Given the description of an element on the screen output the (x, y) to click on. 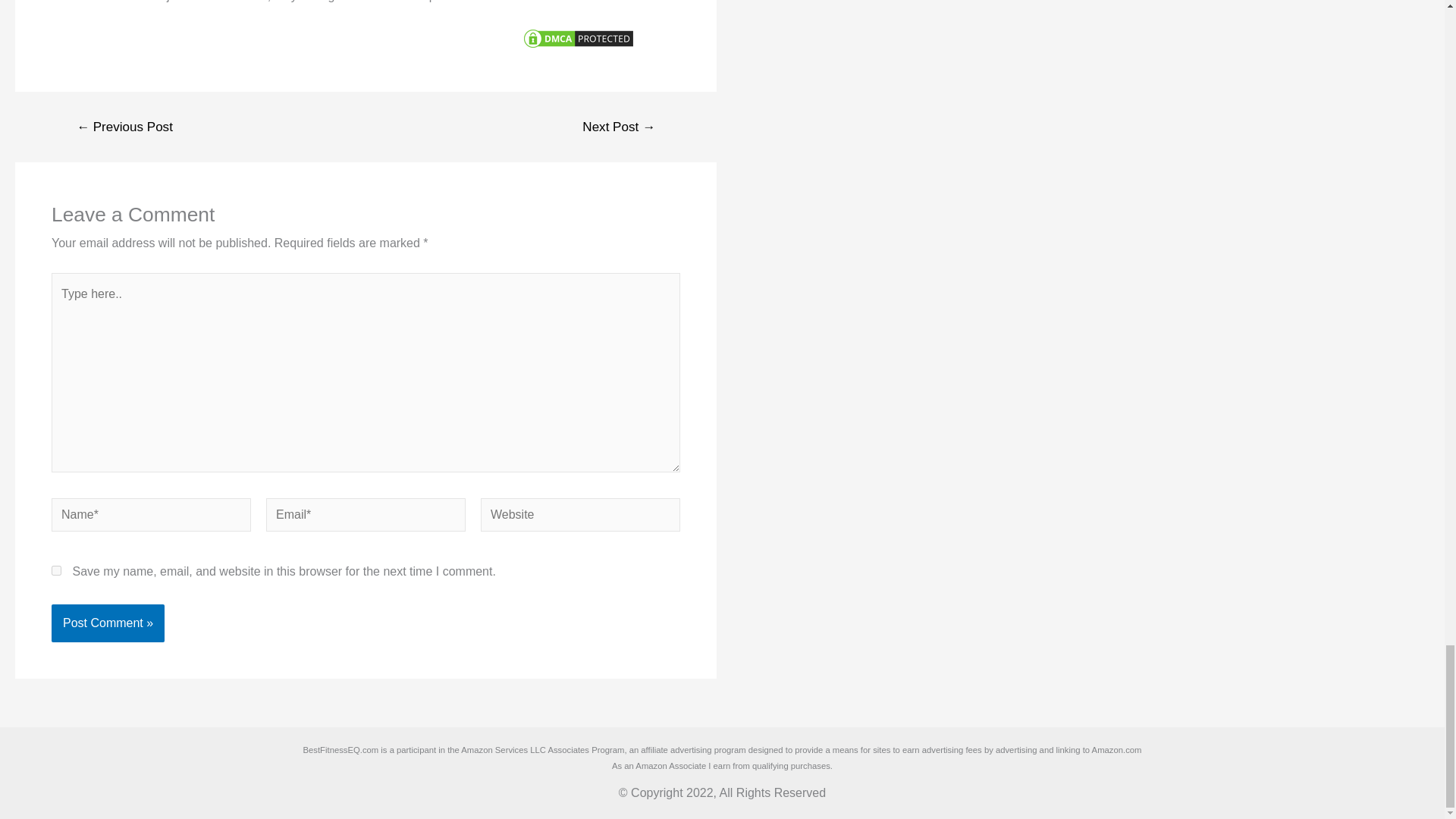
yes (55, 570)
Content Protection by DMCA.com (577, 37)
